Given the description of an element on the screen output the (x, y) to click on. 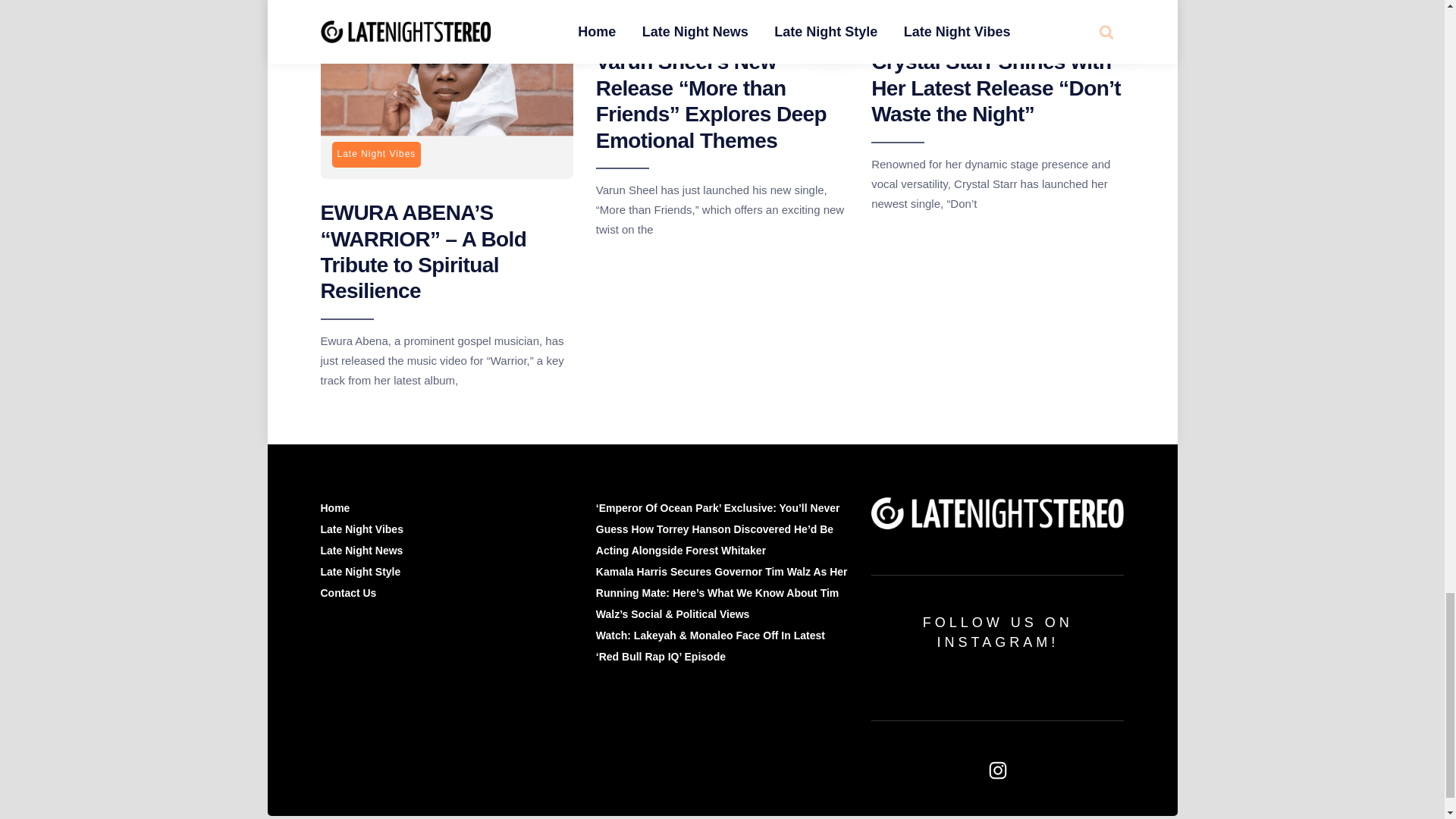
Late Night Vibes (927, 8)
Late Night Vibes (652, 8)
Late Night Vibes (376, 154)
